Given the description of an element on the screen output the (x, y) to click on. 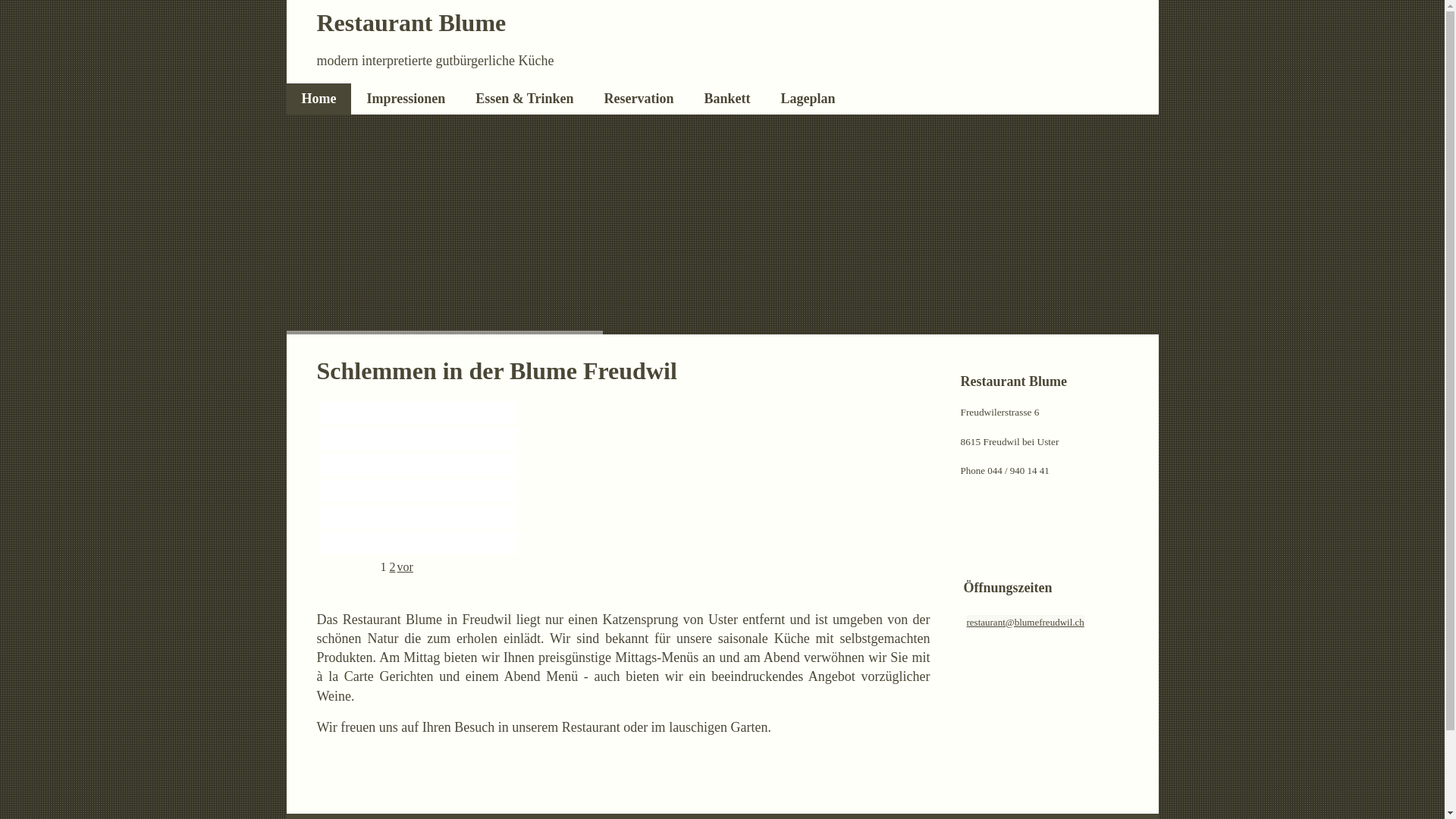
Essen & Trinken Element type: text (524, 98)
Impressionen Element type: text (405, 98)
Home Element type: text (318, 98)
Lageplan Element type: text (807, 98)
restaurant@blumefreudwil.ch Element type: text (1024, 621)
Reservation Element type: text (639, 98)
2 Element type: text (392, 566)
Bankett Element type: text (727, 98)
vor Element type: text (405, 566)
